Given the description of an element on the screen output the (x, y) to click on. 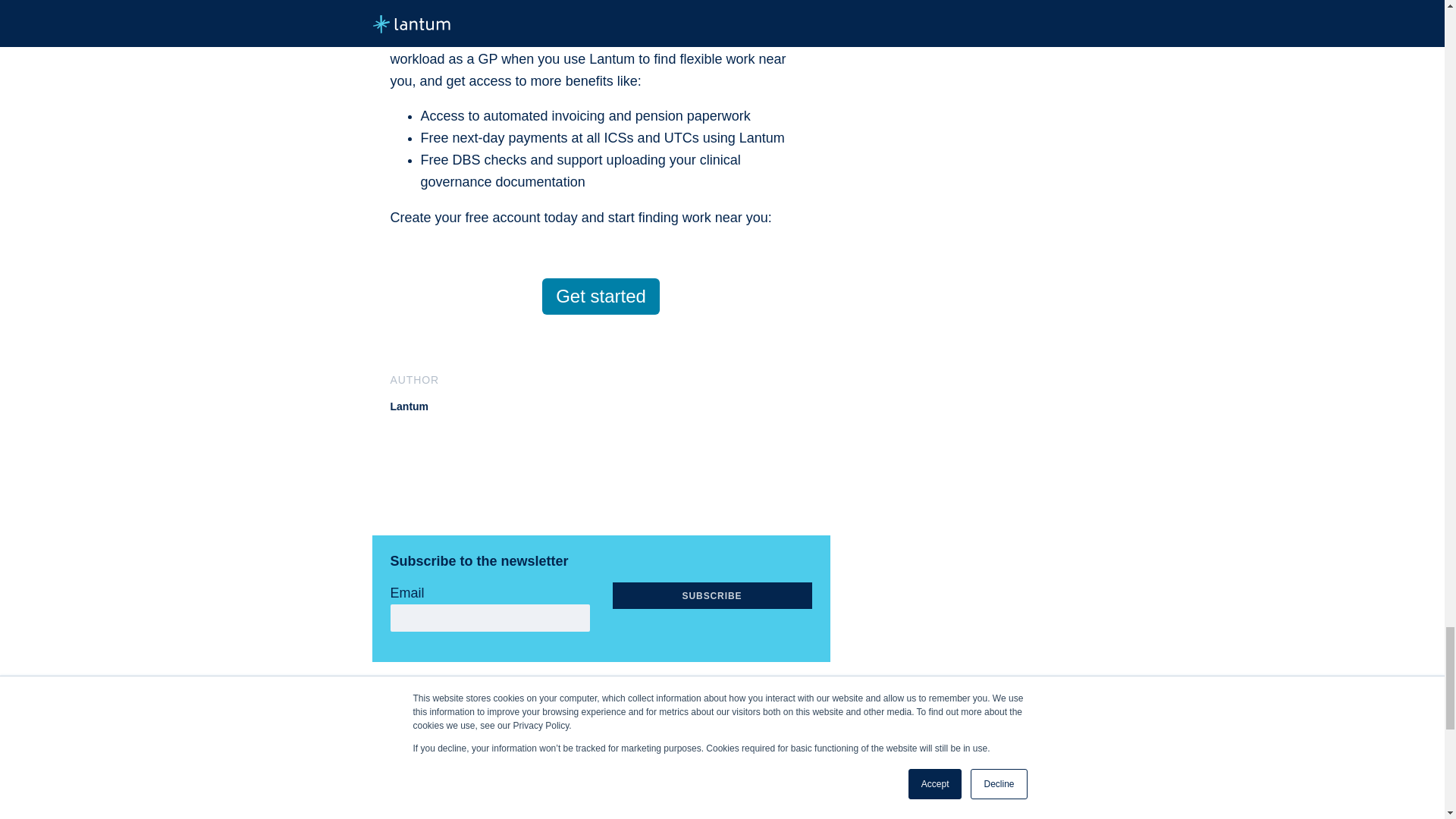
Subscribe (712, 595)
Get started (600, 296)
Lantum (409, 406)
Get started (600, 296)
Subscribe (712, 595)
